Given the description of an element on the screen output the (x, y) to click on. 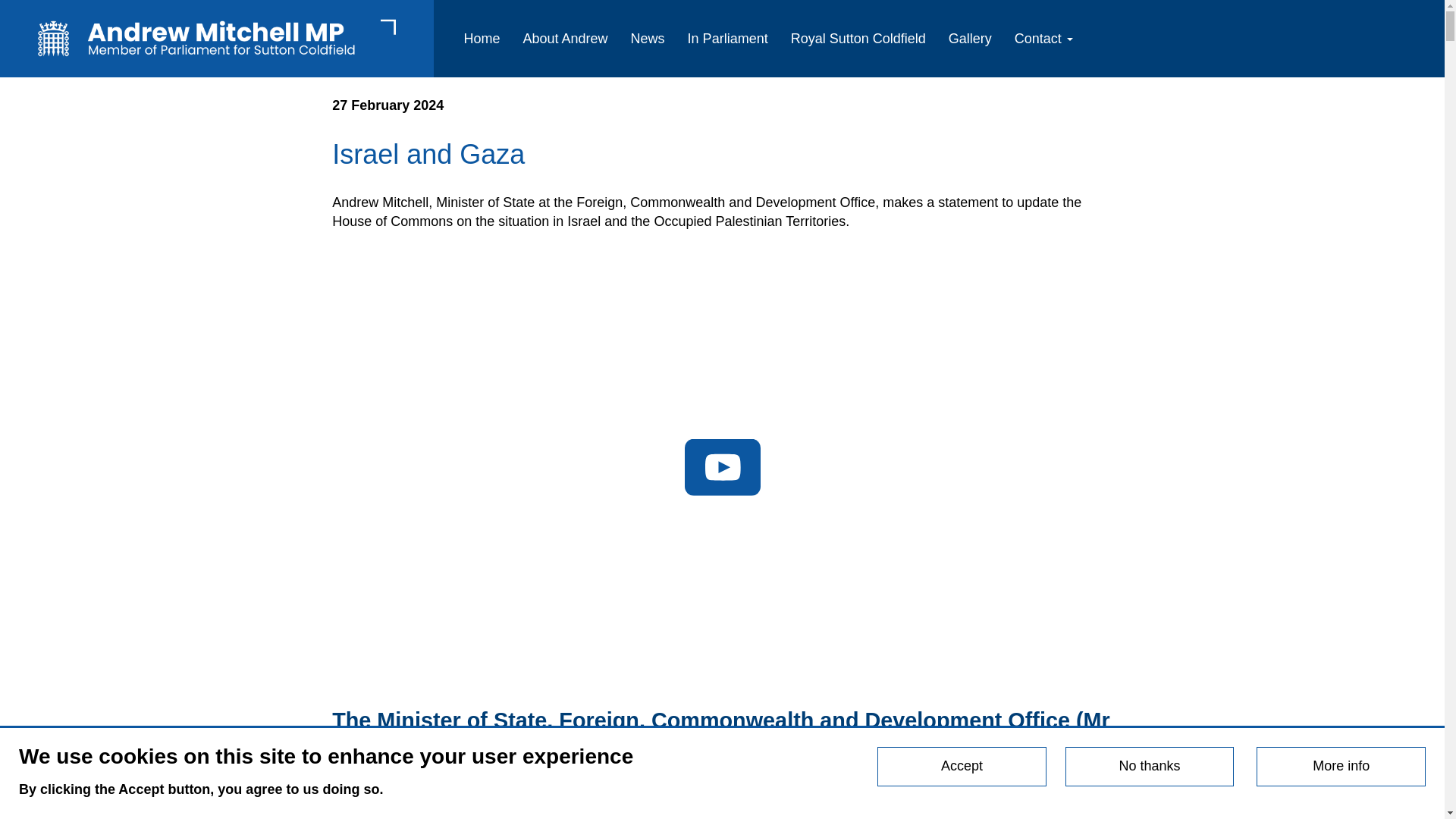
In Parliament (727, 38)
Contact (1043, 38)
About Andrew (566, 38)
Royal Sutton Coldfield (857, 38)
Home (216, 38)
Gallery (970, 38)
Home (481, 38)
News (648, 38)
